Given the description of an element on the screen output the (x, y) to click on. 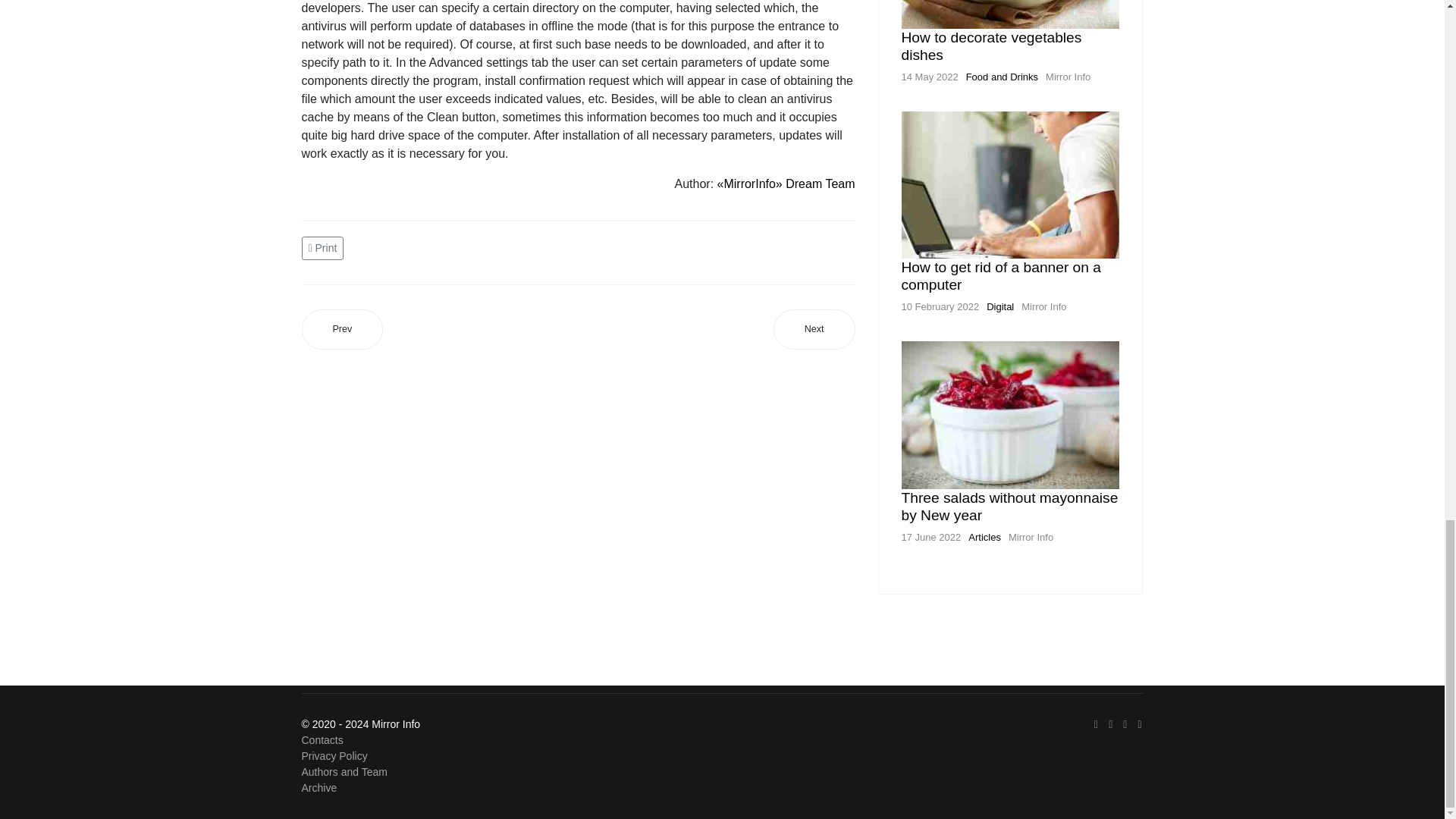
Prev (342, 329)
Next (814, 329)
Print (324, 246)
